Given the description of an element on the screen output the (x, y) to click on. 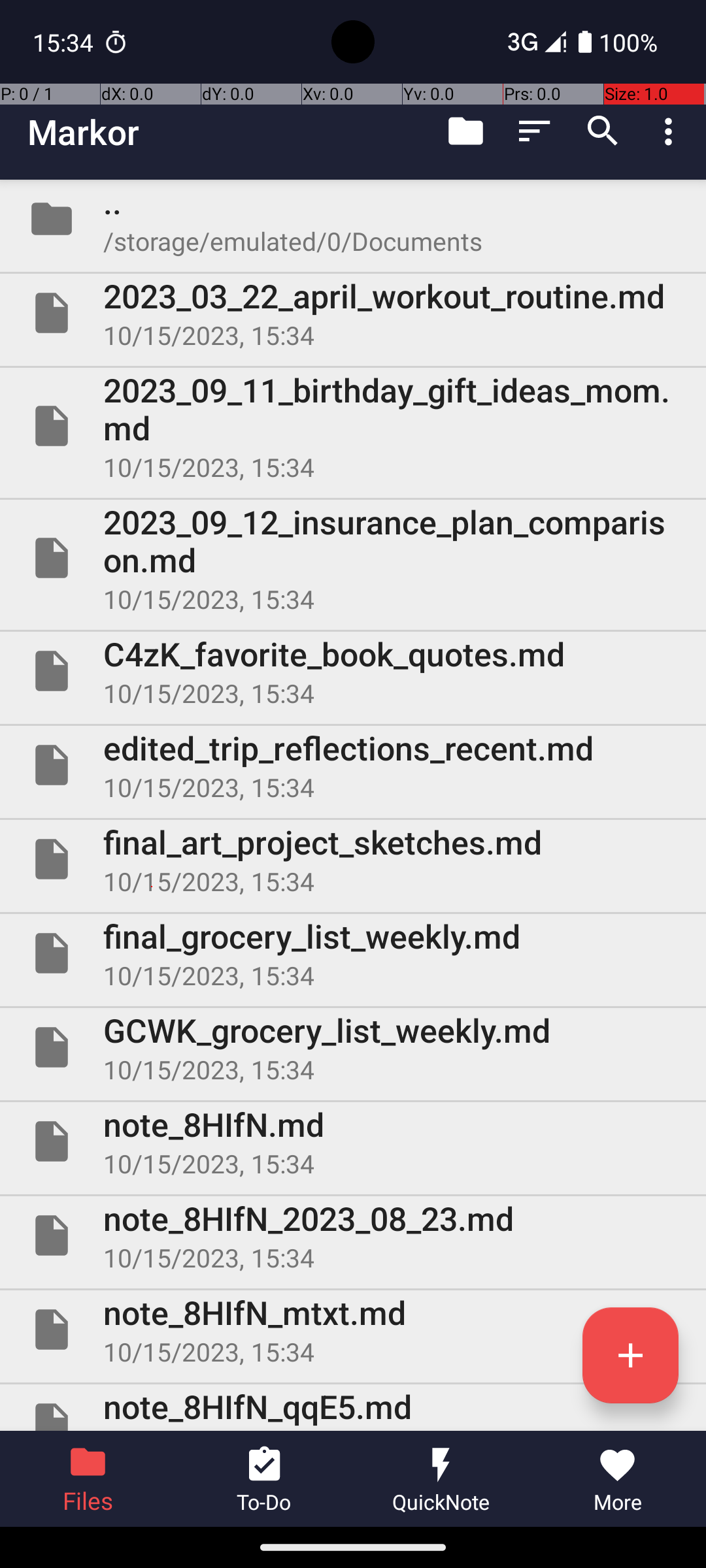
File 2023_03_22_april_workout_routine.md  Element type: android.widget.LinearLayout (353, 312)
File 2023_09_11_birthday_gift_ideas_mom.md  Element type: android.widget.LinearLayout (353, 425)
File 2023_09_12_insurance_plan_comparison.md  Element type: android.widget.LinearLayout (353, 557)
File C4zK_favorite_book_quotes.md  Element type: android.widget.LinearLayout (353, 670)
File edited_trip_reflections_recent.md  Element type: android.widget.LinearLayout (353, 764)
File final_art_project_sketches.md  Element type: android.widget.LinearLayout (353, 858)
File final_grocery_list_weekly.md  Element type: android.widget.LinearLayout (353, 953)
File GCWK_grocery_list_weekly.md  Element type: android.widget.LinearLayout (353, 1047)
File note_8HIfN.md  Element type: android.widget.LinearLayout (353, 1141)
File note_8HIfN_2023_08_23.md  Element type: android.widget.LinearLayout (353, 1235)
File note_8HIfN_mtxt.md  Element type: android.widget.LinearLayout (353, 1329)
File note_8HIfN_qqE5.md  Element type: android.widget.LinearLayout (353, 1407)
